Given the description of an element on the screen output the (x, y) to click on. 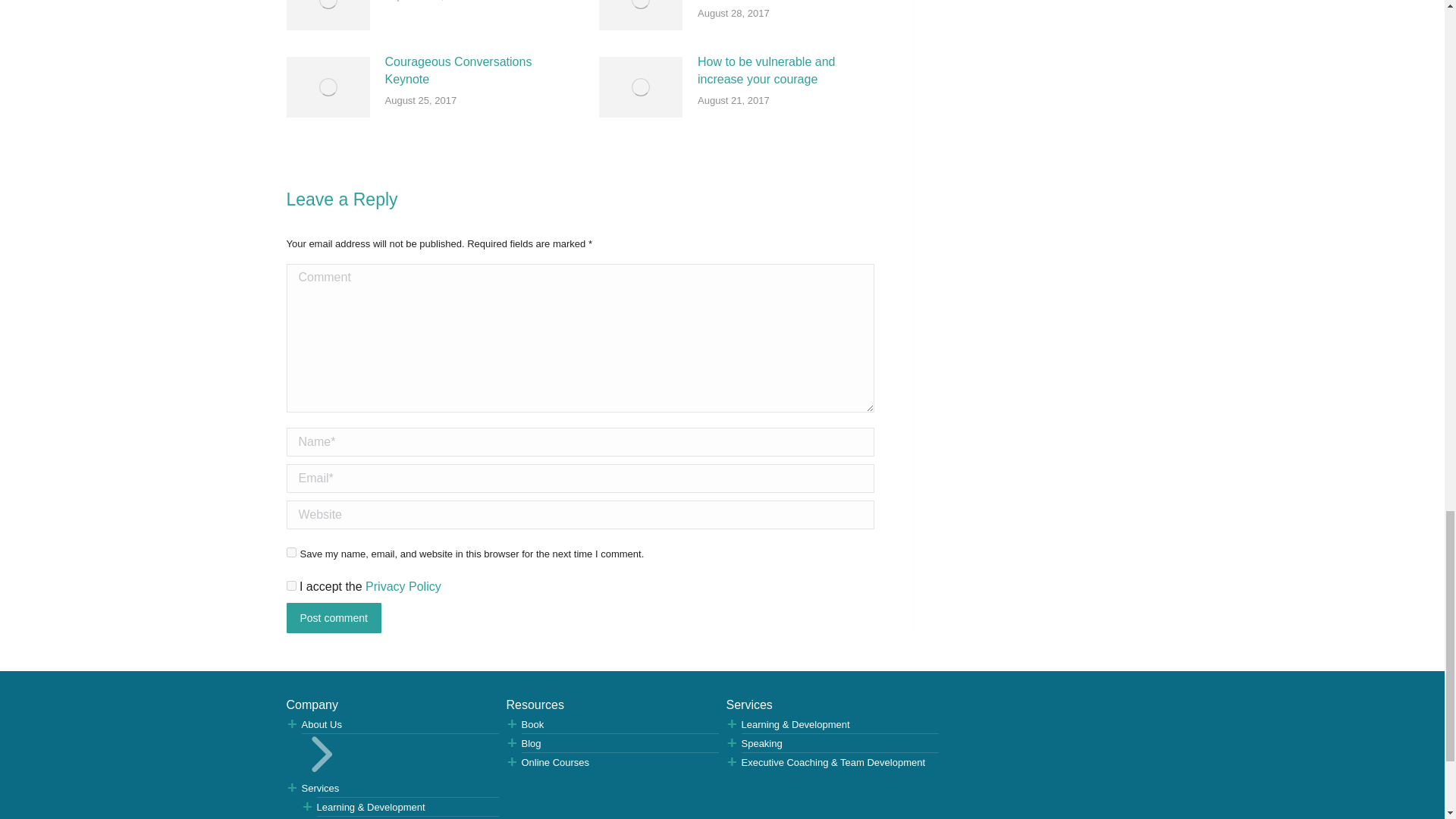
yes (291, 552)
1 (291, 585)
